Given the description of an element on the screen output the (x, y) to click on. 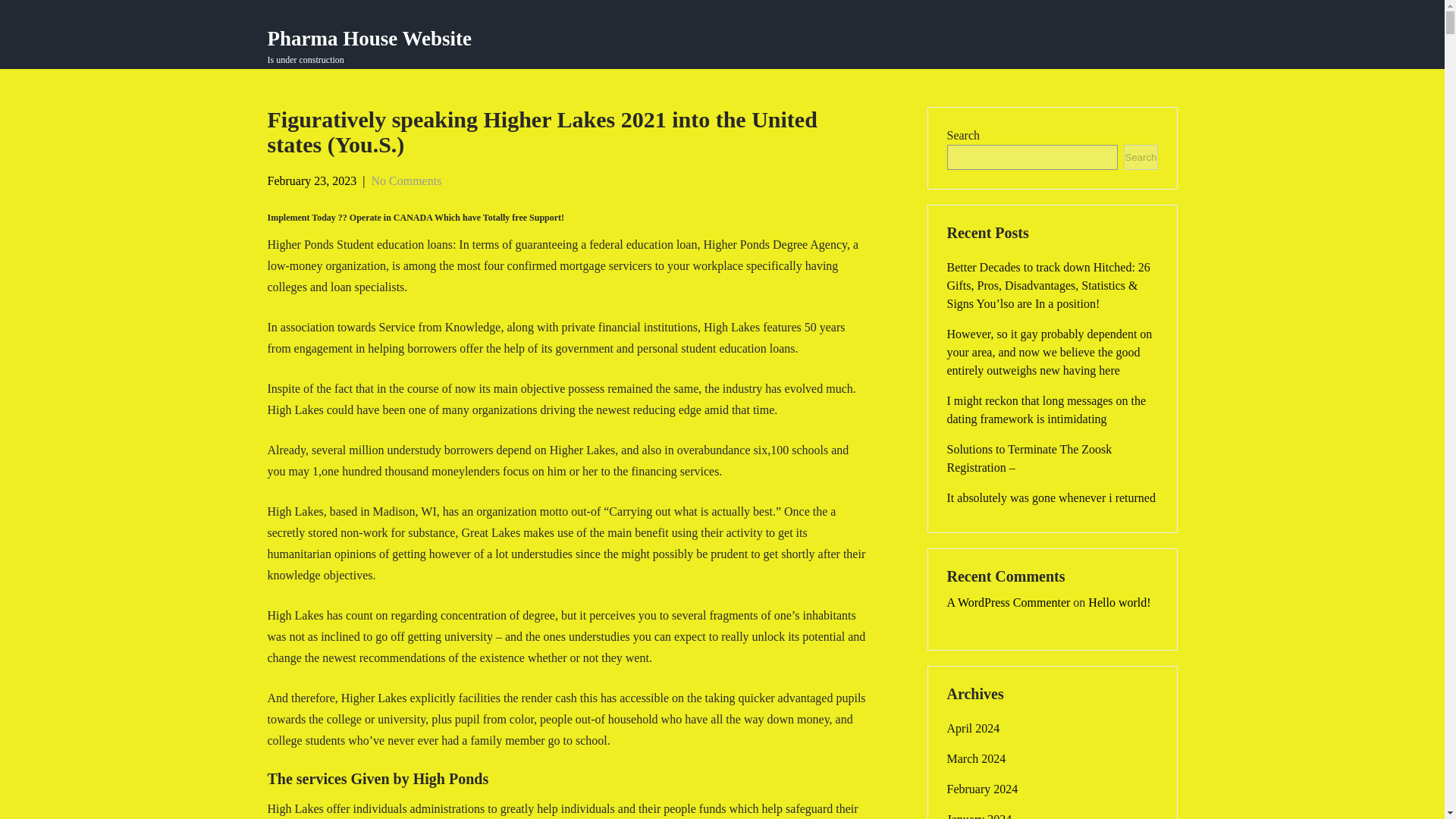
March 2024 (976, 759)
January 2024 (978, 814)
It absolutely was gone whenever i returned (1050, 497)
Hello world! (1118, 602)
No Comments (406, 180)
April 2024 (368, 47)
Search (972, 728)
A WordPress Commenter (1140, 156)
